Given the description of an element on the screen output the (x, y) to click on. 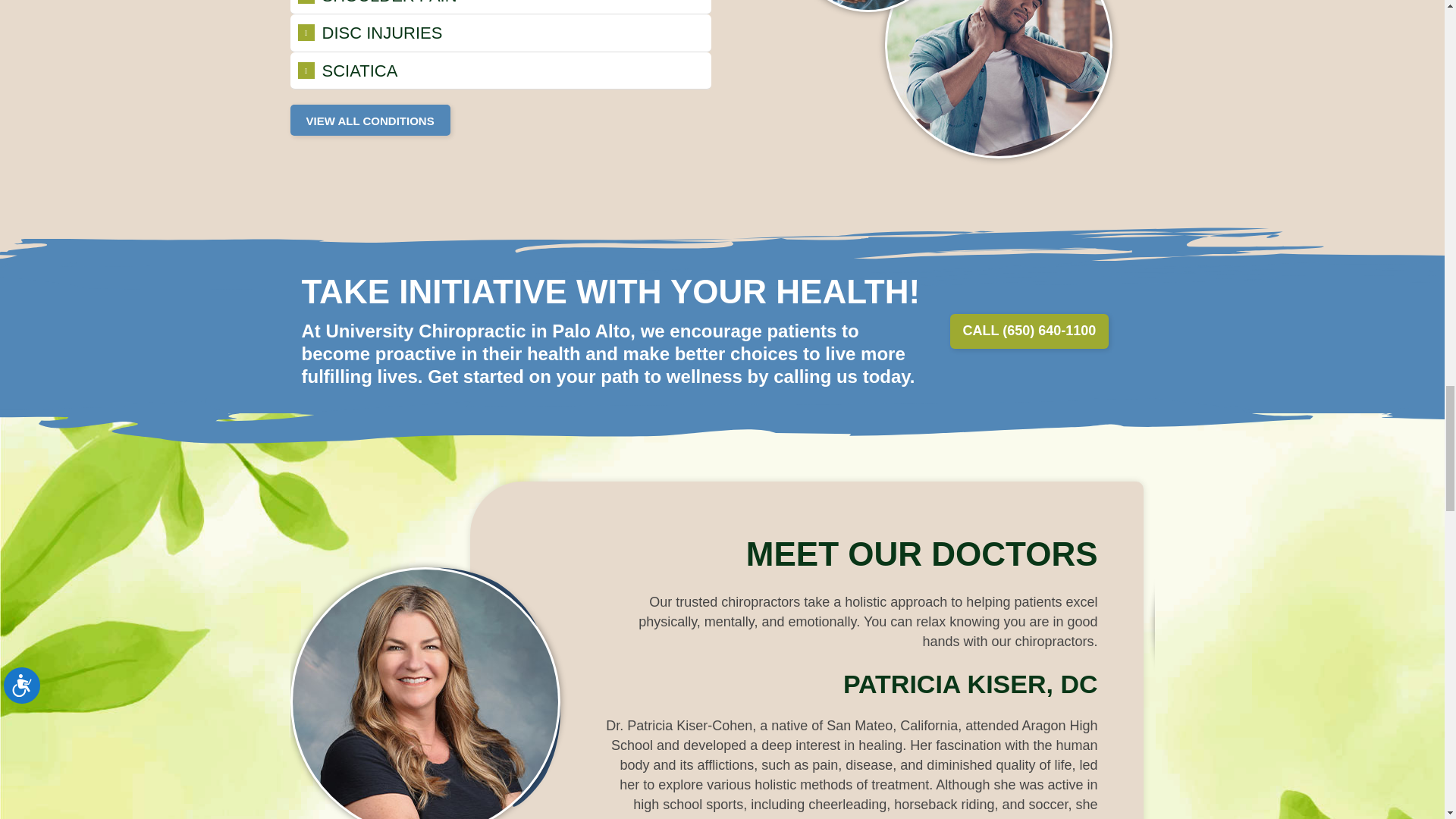
Click here to call now (1028, 330)
